Given the description of an element on the screen output the (x, y) to click on. 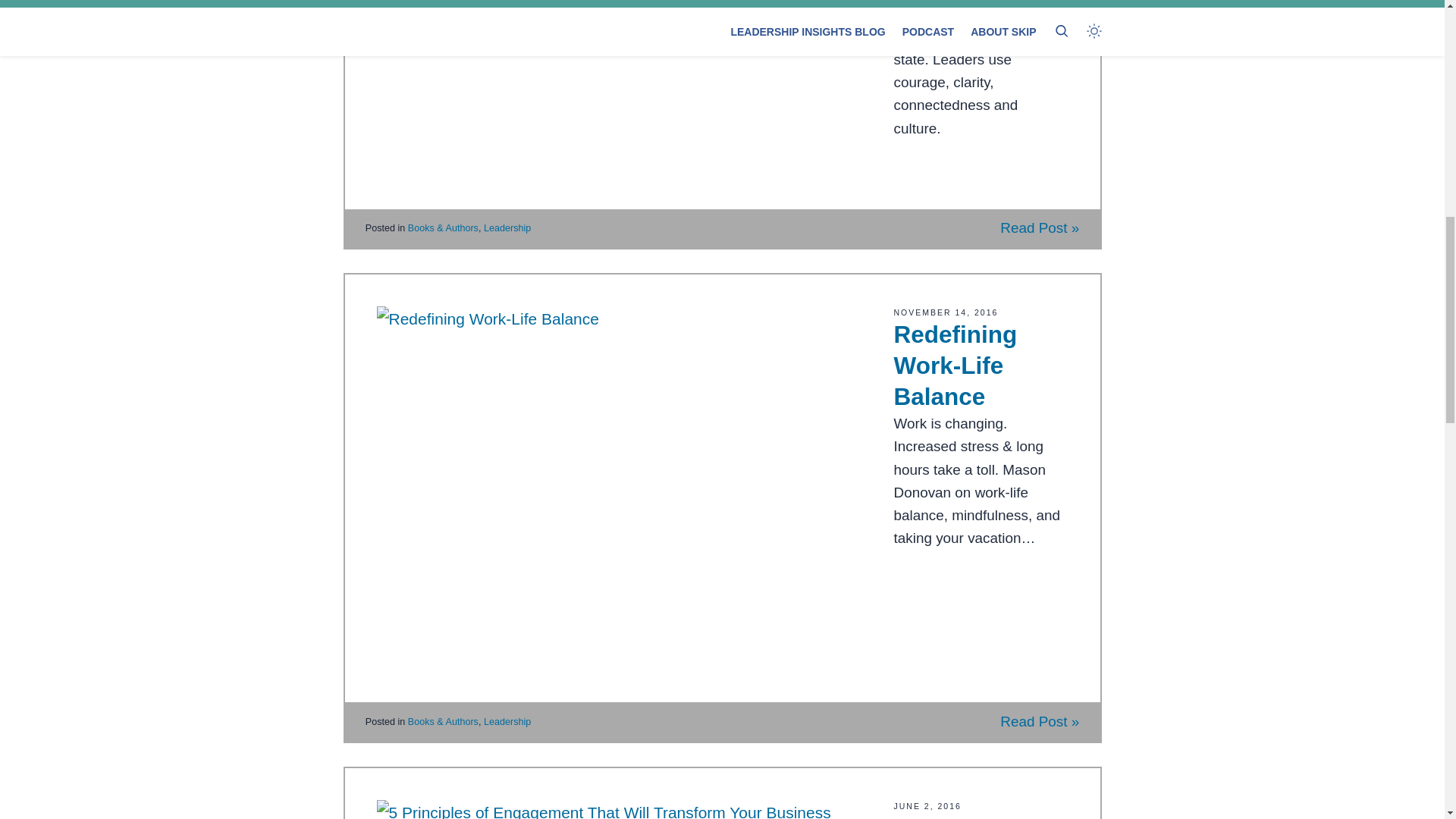
5 Principles of Engagement That Will Transform Your Business (975, 816)
Redefining Work-Life Balance (954, 365)
Leadership (507, 721)
Leadership (507, 227)
